Given the description of an element on the screen output the (x, y) to click on. 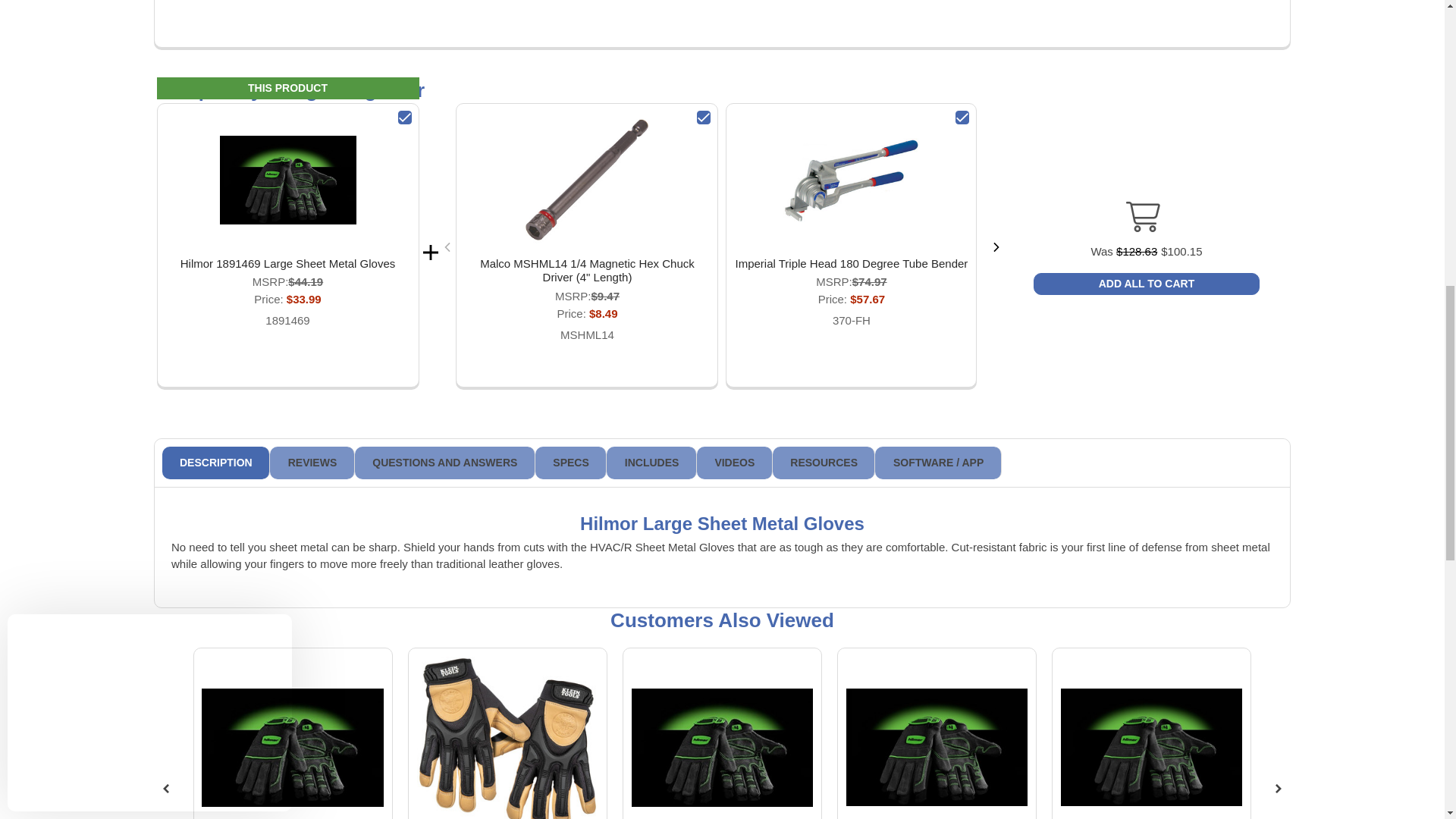
Customers Also Viewed (721, 620)
Hilmor 1891469 Large Sheet Metal Gloves (288, 263)
Klein 60188 Large Leather Work Gloves (507, 737)
Hilmor 1891463 Medium Sheet Metal Gloves (936, 746)
Hilmor 1891606 Medium HVAC Gloves (721, 747)
Imperial Triple Head 180 Degree Tube Bender (851, 180)
Hilmor 1891592 Extra Large Sheet Metal Gloves (1151, 746)
Hilmor 1891469 Large Sheet Metal Gloves (287, 179)
Hilmor 1891607 Large HVAC Gloves (292, 747)
